Given the description of an element on the screen output the (x, y) to click on. 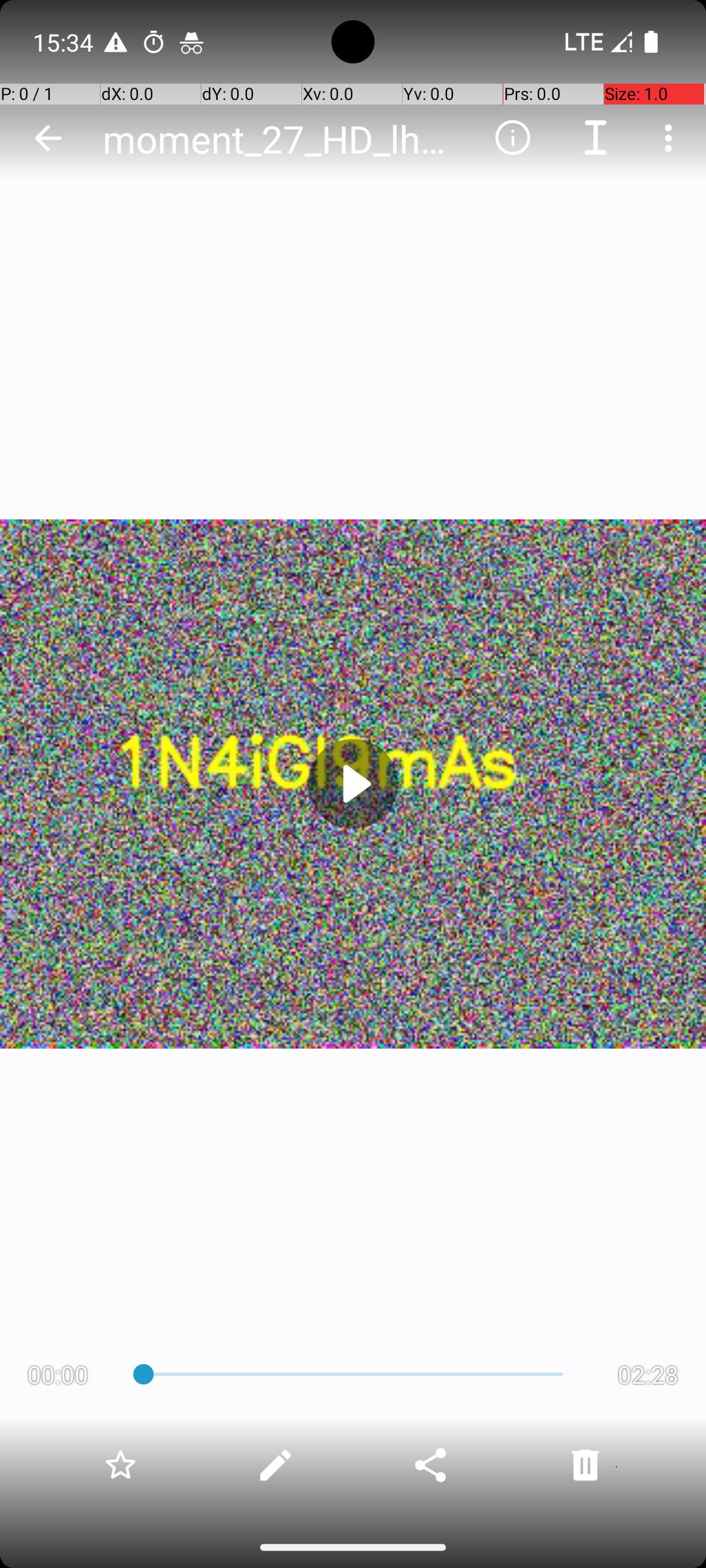
moment_27_HD_lhPk.mp4 Element type: android.widget.TextView (283, 138)
Properties Element type: android.widget.Button (512, 137)
Rename Element type: android.widget.Button (595, 137)
Toggle favorite Element type: android.widget.ImageView (120, 1464)
00:00 Element type: android.widget.TextView (57, 1374)
02:28 Element type: android.widget.TextView (648, 1374)
